Given the description of an element on the screen output the (x, y) to click on. 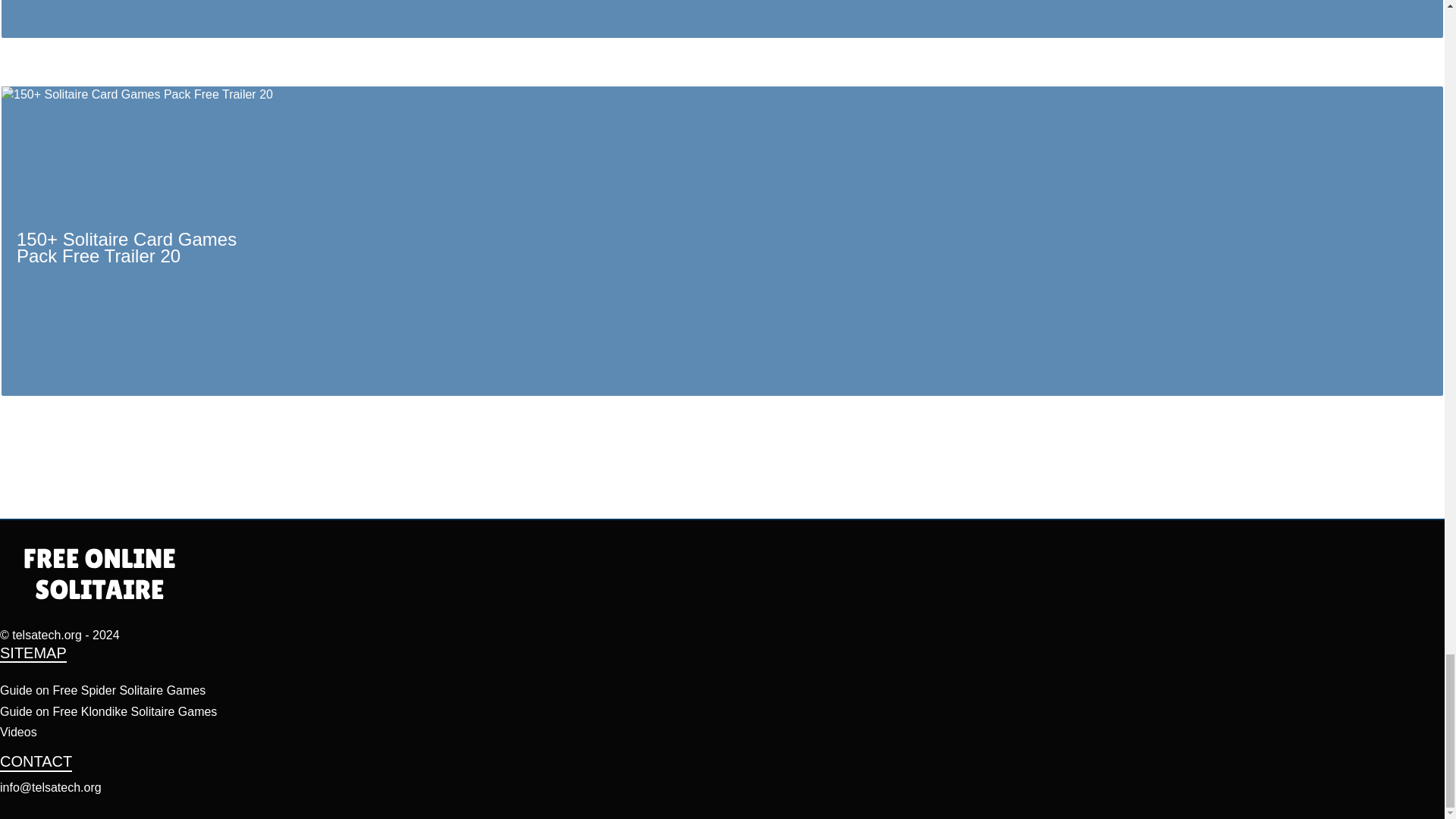
Videos (18, 731)
Guide on Free Spider Solitaire Games (102, 689)
Guide on Free Klondike Solitaire Games (108, 710)
